Given the description of an element on the screen output the (x, y) to click on. 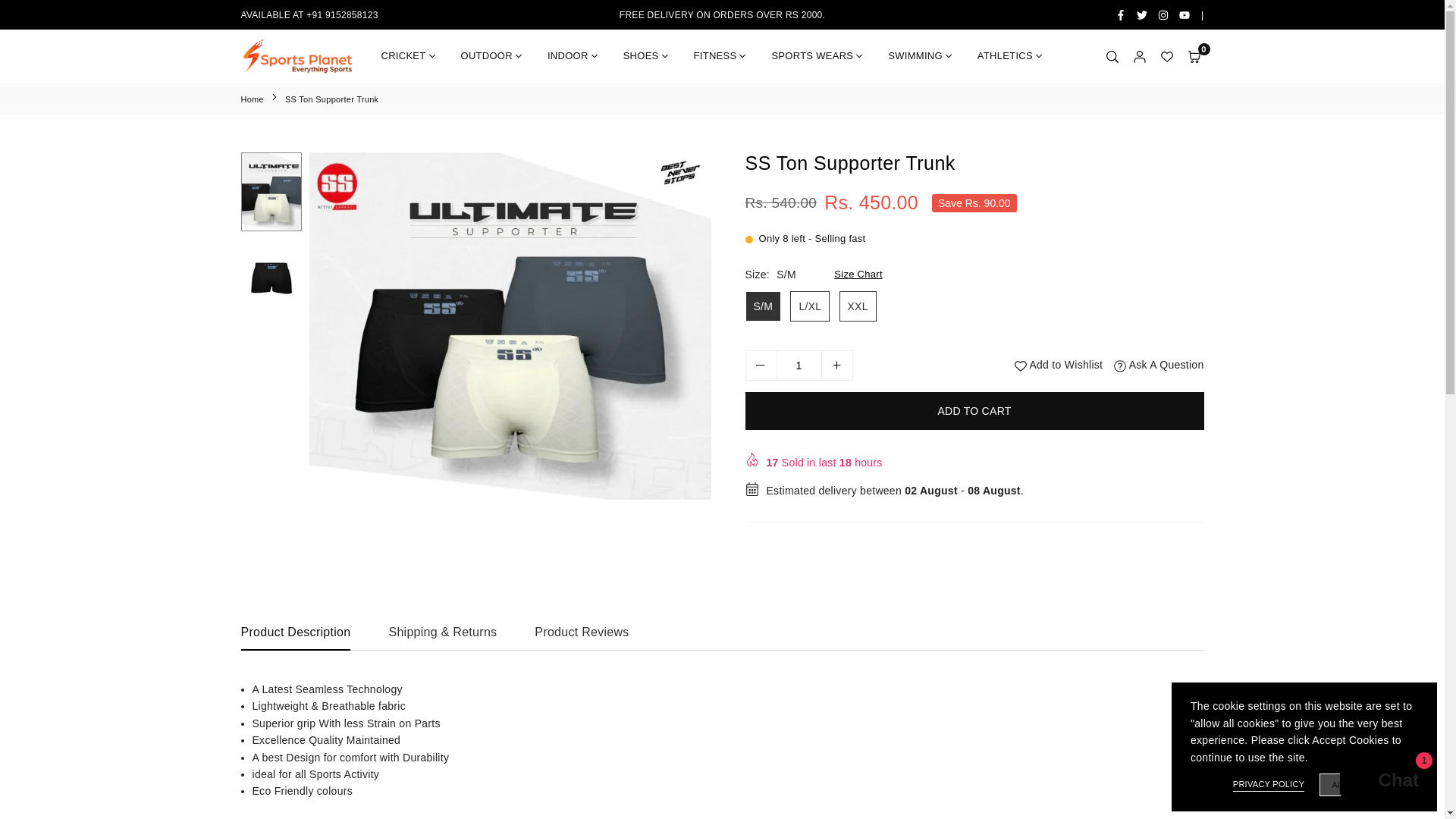
Sports Planet - Everything Sports on Instagram (1163, 14)
Back to the home page (253, 99)
1 (799, 365)
Sports Planet - Everything Sports on Facebook (1120, 14)
TWITTER (1142, 14)
FITNESS (721, 56)
OUTDOOR (492, 56)
Sports Planet - Everything Sports on Twitter (1142, 14)
Sports Planet - Everything Sports on YouTube (1184, 14)
INDOOR (573, 56)
SHOES (646, 56)
YOUTUBE (1184, 14)
SPORTS PLANET - EVERYTHING SPORTS (298, 56)
Quantity (797, 365)
INSTAGRAM (1163, 14)
